Given the description of an element on the screen output the (x, y) to click on. 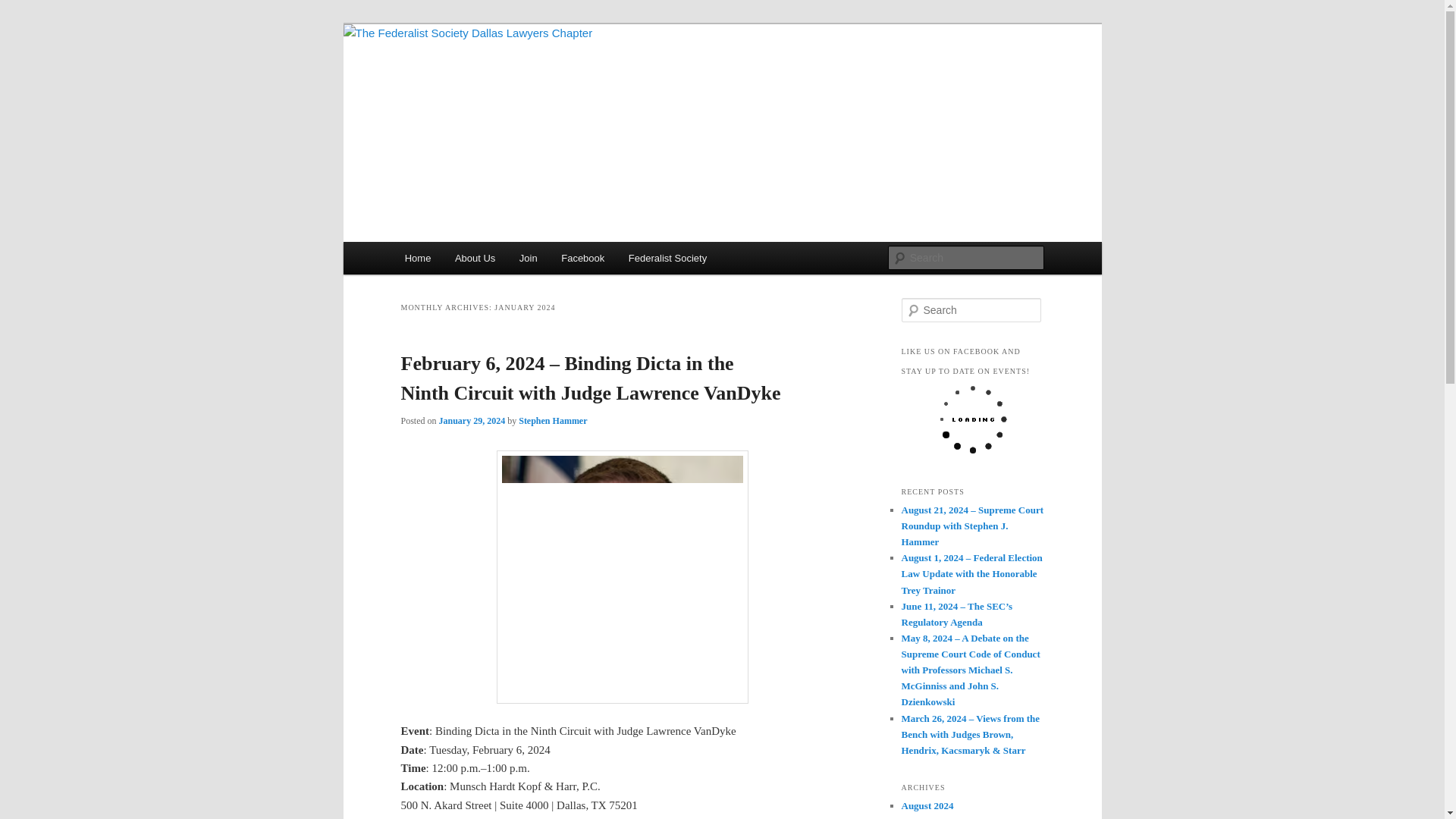
Stephen Hammer (552, 420)
Federalist Society (667, 257)
View all posts by Stephen Hammer (552, 420)
3:58 am (472, 420)
July 2024 (920, 817)
August 2024 (927, 805)
Search (21, 11)
The Federalist Society Dallas Lawyers Chapter (606, 92)
Home (417, 257)
